Given the description of an element on the screen output the (x, y) to click on. 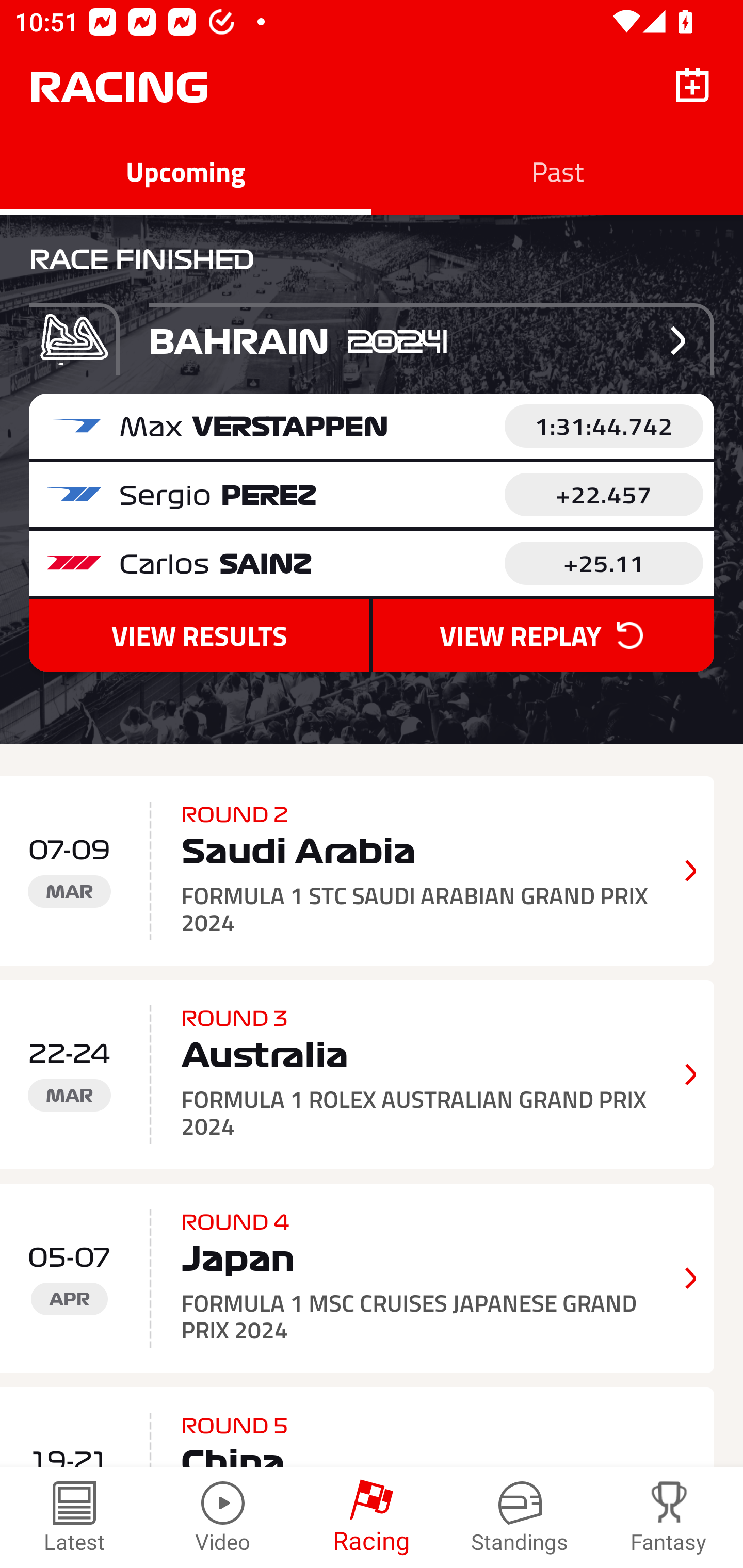
Past (557, 171)
VIEW RESULTS (198, 634)
VIEW REPLAY (543, 634)
Latest (74, 1517)
Video (222, 1517)
Standings (519, 1517)
Fantasy (668, 1517)
